Given the description of an element on the screen output the (x, y) to click on. 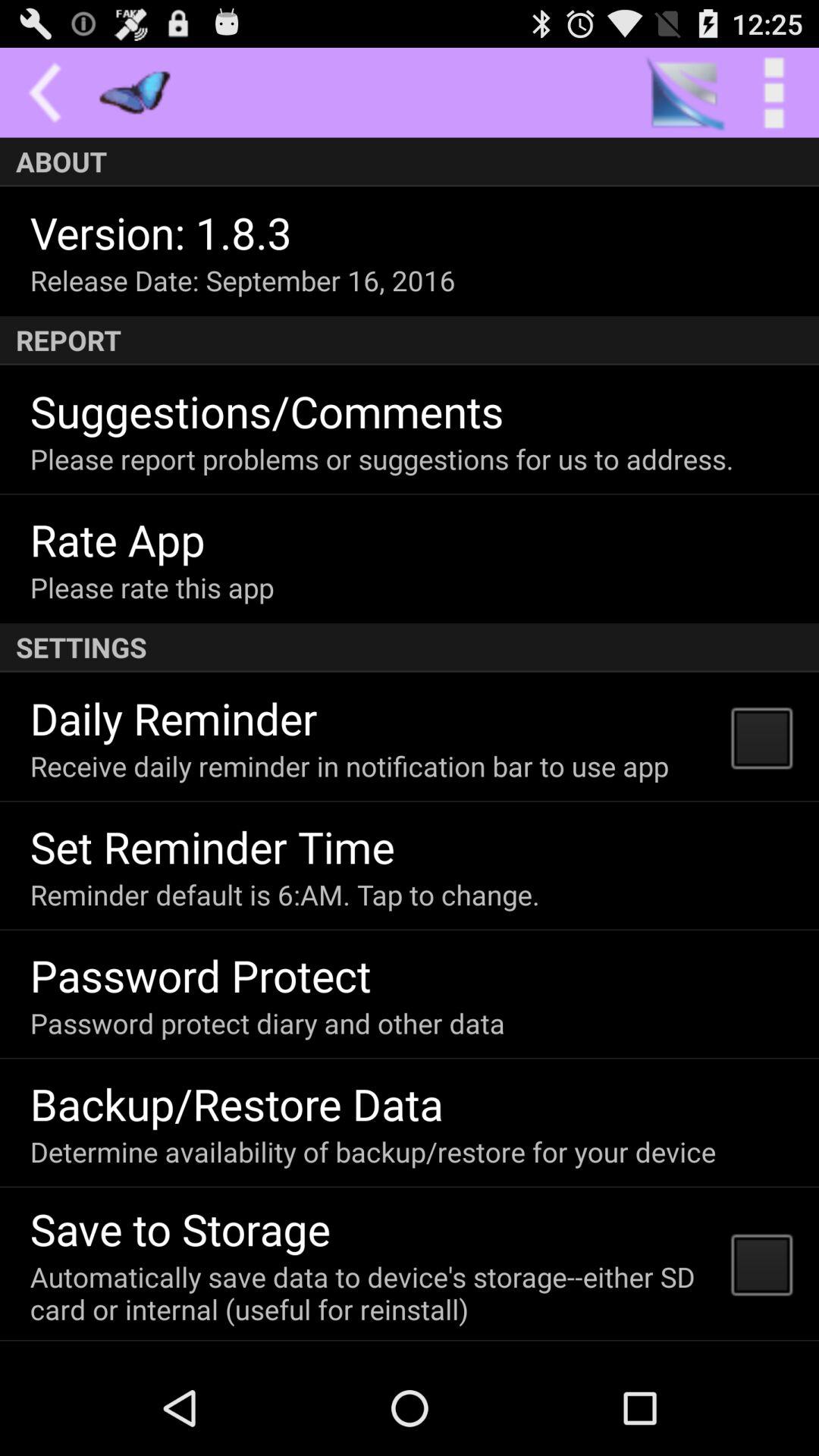
open item above the daily reminder (409, 647)
